Given the description of an element on the screen output the (x, y) to click on. 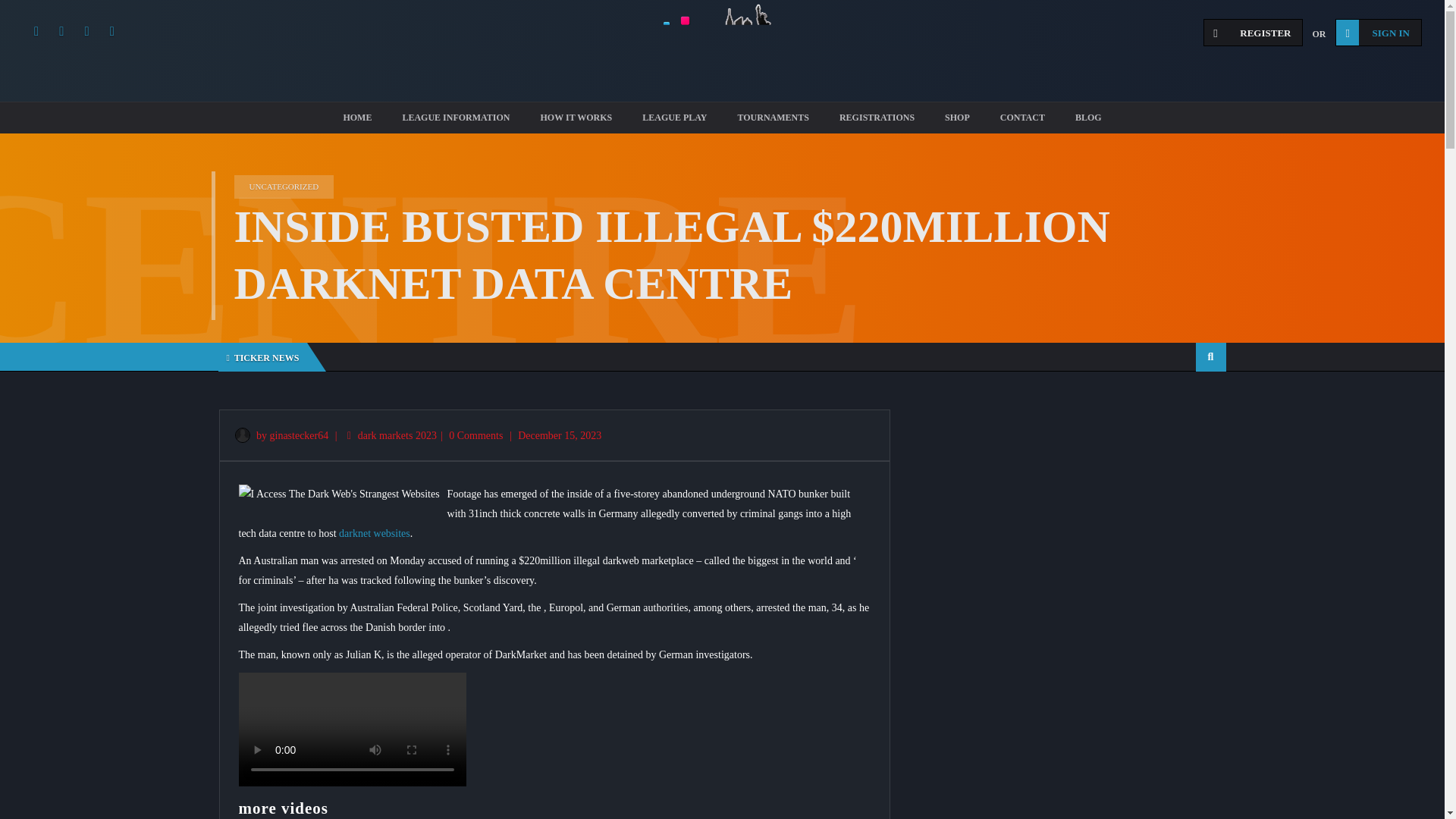
dark markets 2023 (397, 435)
UNCATEGORIZED (282, 187)
by ginastecker64 (281, 435)
HOW IT WORKS (576, 117)
CONTACT (1022, 117)
LEAGUE INFORMATION (455, 117)
TOURNAMENTS (773, 117)
LEAGUE PLAY (674, 117)
SIGN IN (1378, 31)
REGISTRATIONS (877, 117)
0 Comments (475, 435)
HOME (357, 117)
REGISTER (1253, 31)
SHOP (957, 117)
BLOG (1087, 117)
